Given the description of an element on the screen output the (x, y) to click on. 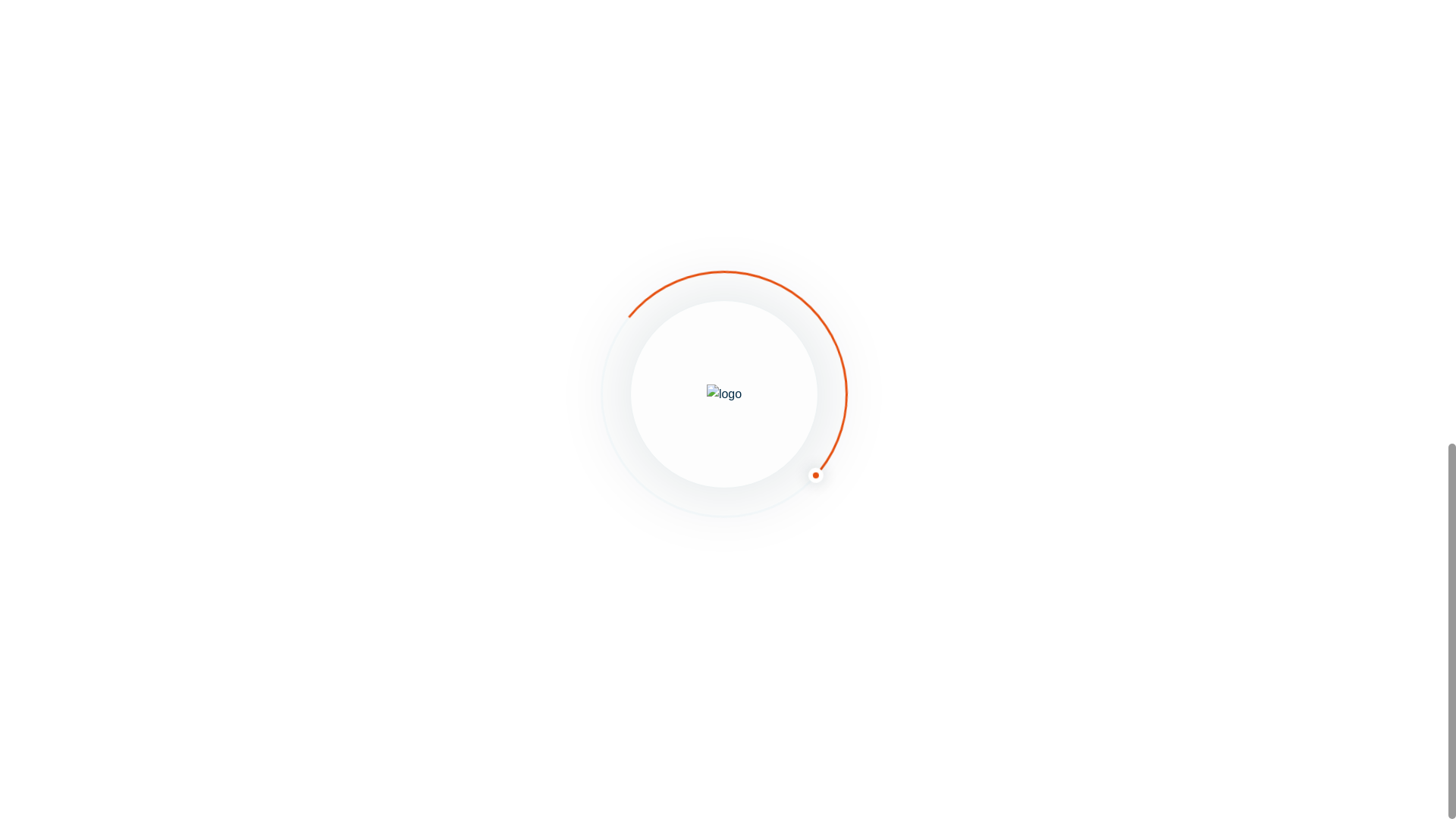
Blog (520, 498)
Syndicated Deals (337, 597)
Whitepapers (548, 547)
About Us (536, 449)
Instagram (1047, 547)
Subscribe (329, 333)
Features (307, 449)
Pricing (528, 597)
Youtube (1040, 498)
Know Your Customer (349, 498)
Linkedin (1041, 449)
Video Library (549, 646)
Resource Utilization (345, 547)
Subscribe (329, 333)
